Given the description of an element on the screen output the (x, y) to click on. 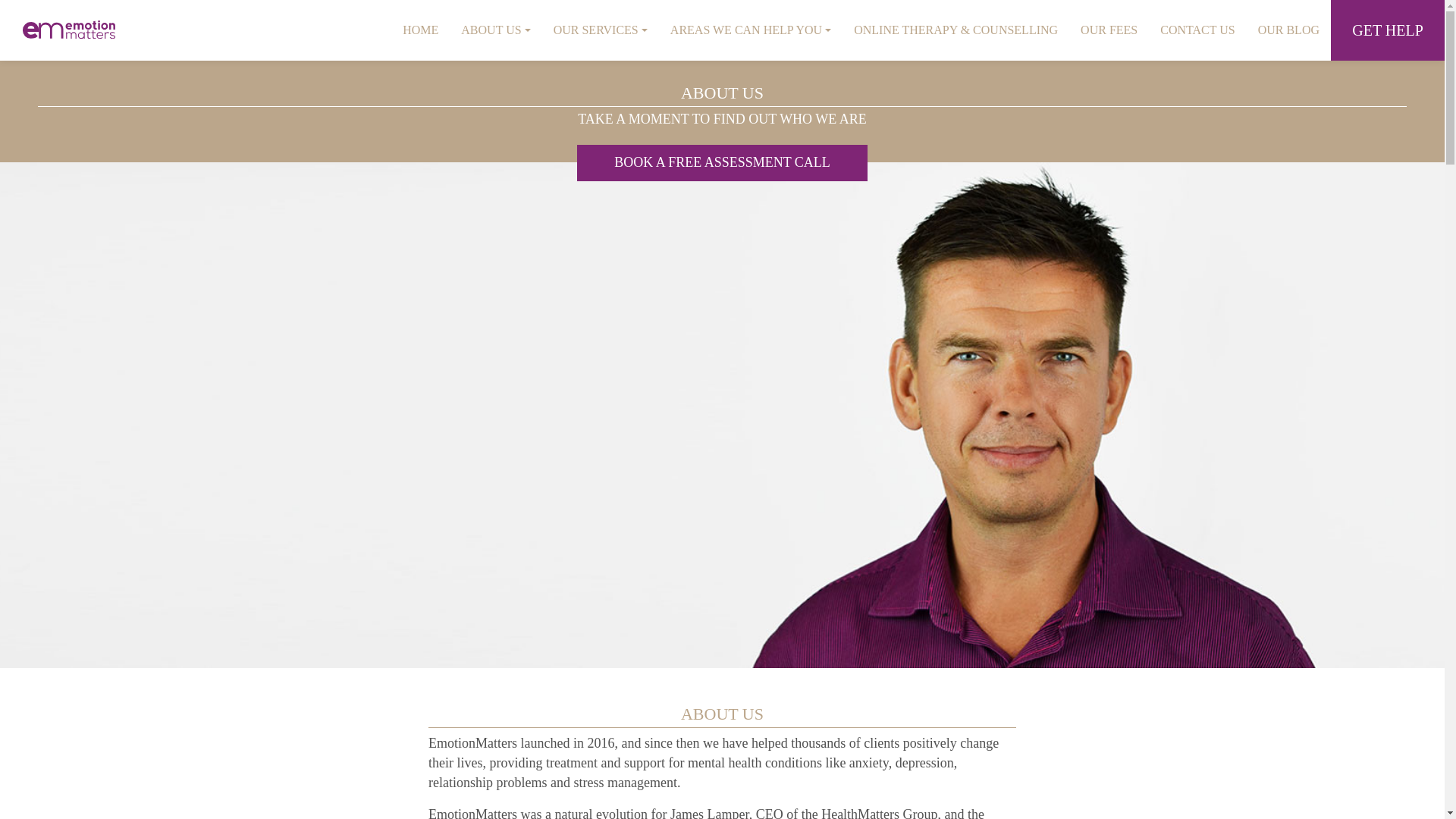
HOME (751, 30)
